Given the description of an element on the screen output the (x, y) to click on. 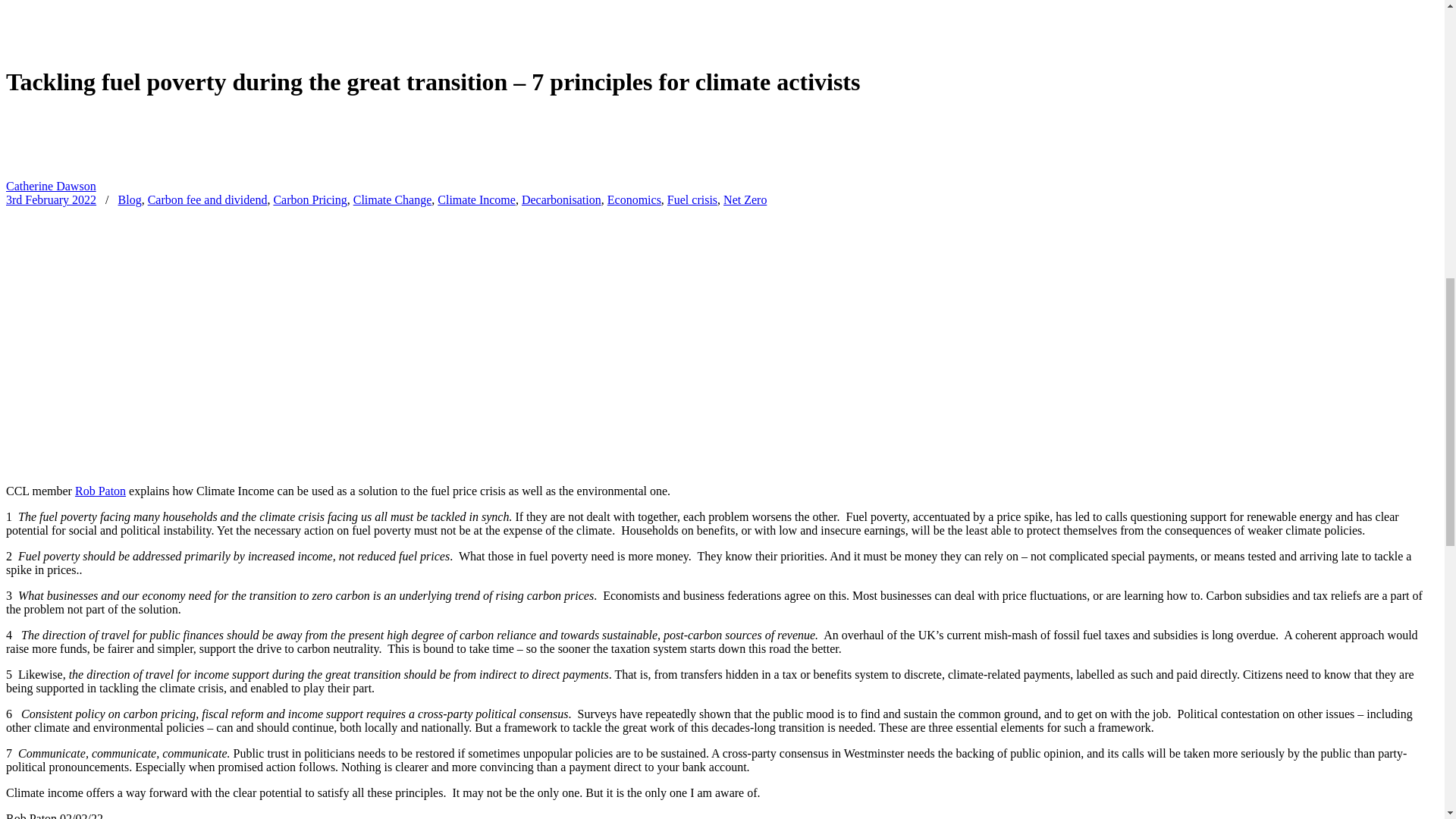
1:49 pm (50, 199)
View all posts by Catherine Dawson (50, 185)
View all posts by Catherine Dawson (37, 172)
